Given the description of an element on the screen output the (x, y) to click on. 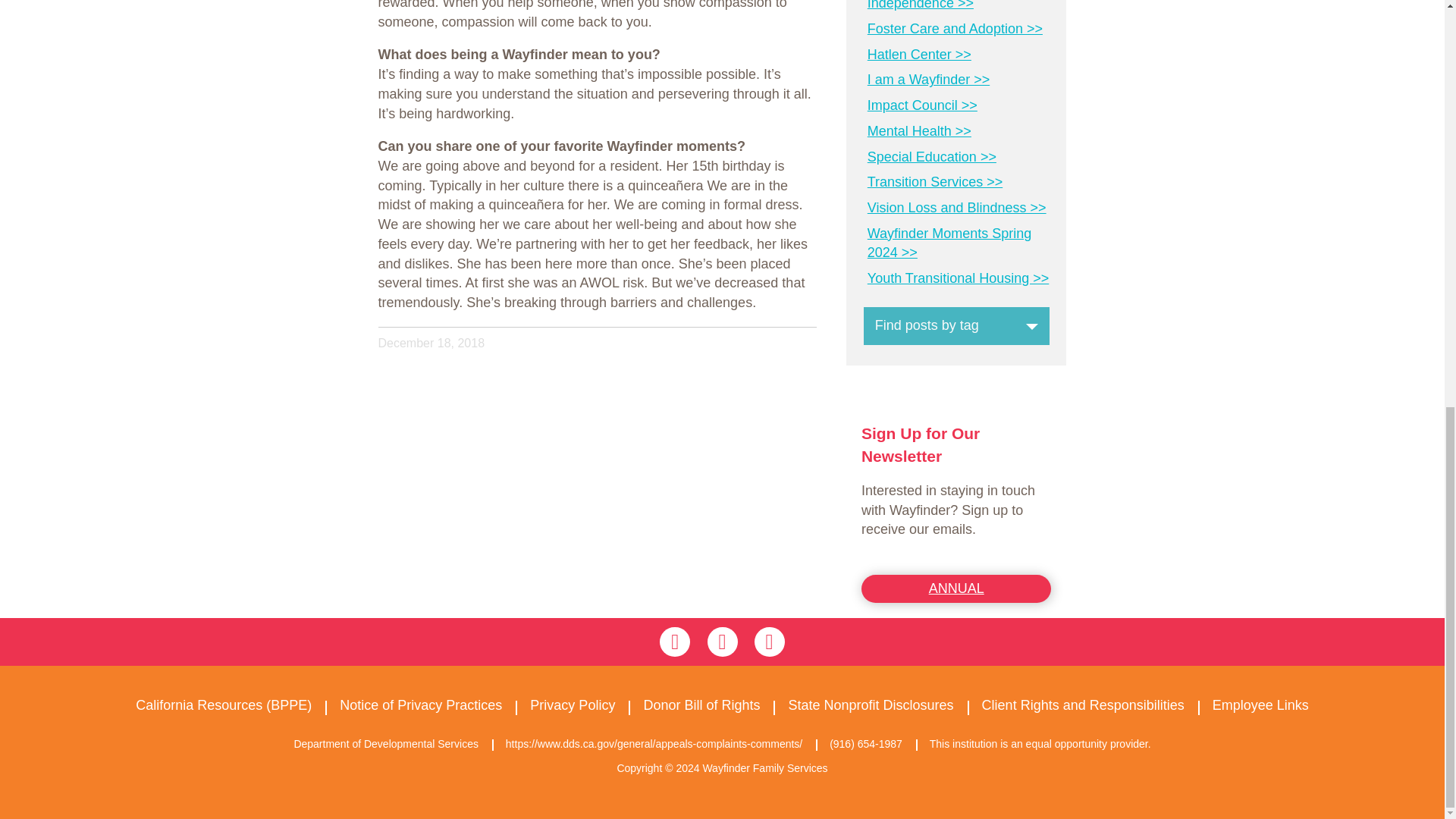
Youtube (769, 641)
Facebook (674, 641)
Instagram (721, 641)
